Given the description of an element on the screen output the (x, y) to click on. 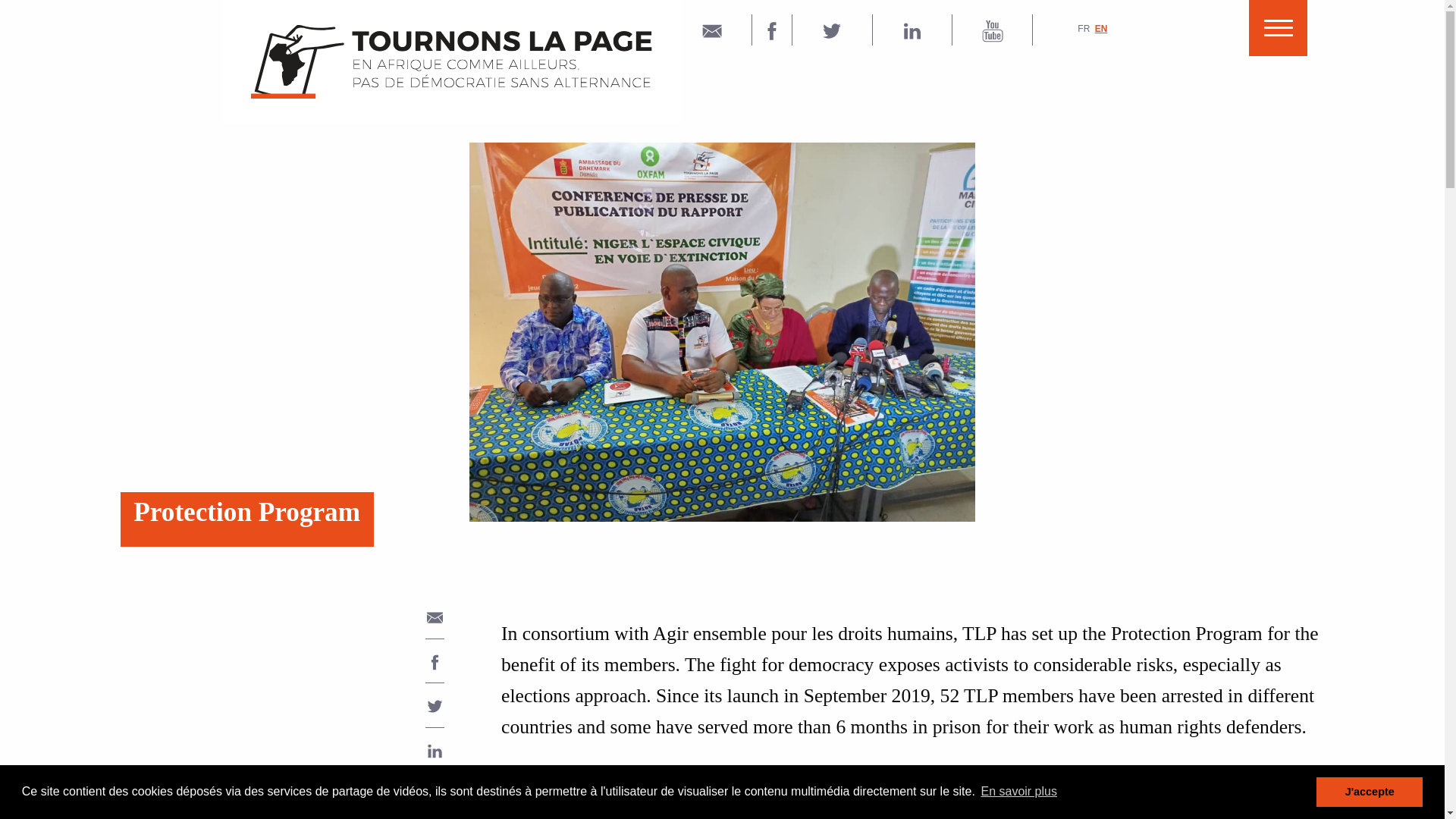
J'accepte (1369, 791)
En savoir plus (1018, 791)
EN (1101, 28)
FR (1083, 28)
